Given the description of an element on the screen output the (x, y) to click on. 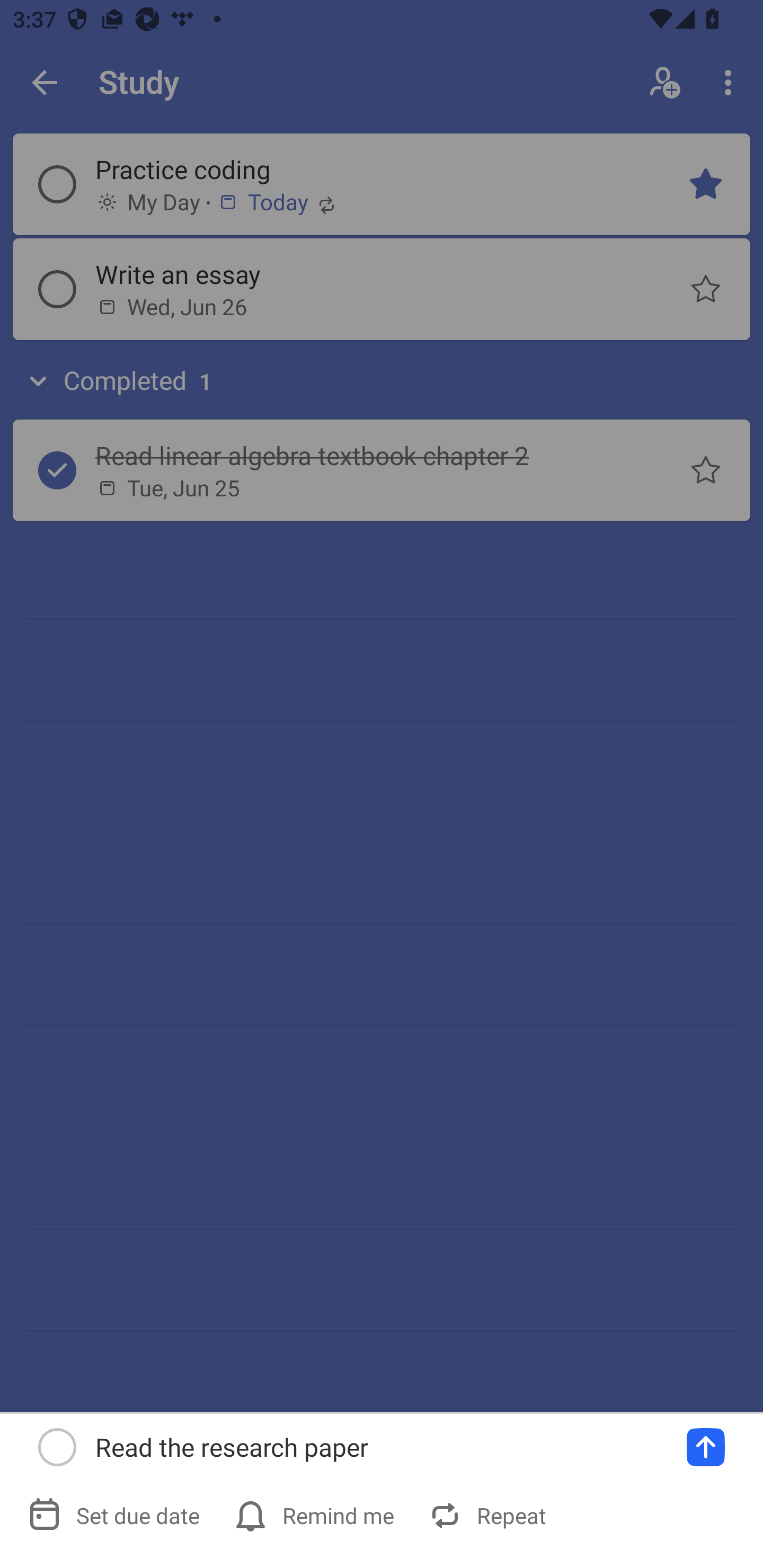
Remind me (315, 1515)
